Given the description of an element on the screen output the (x, y) to click on. 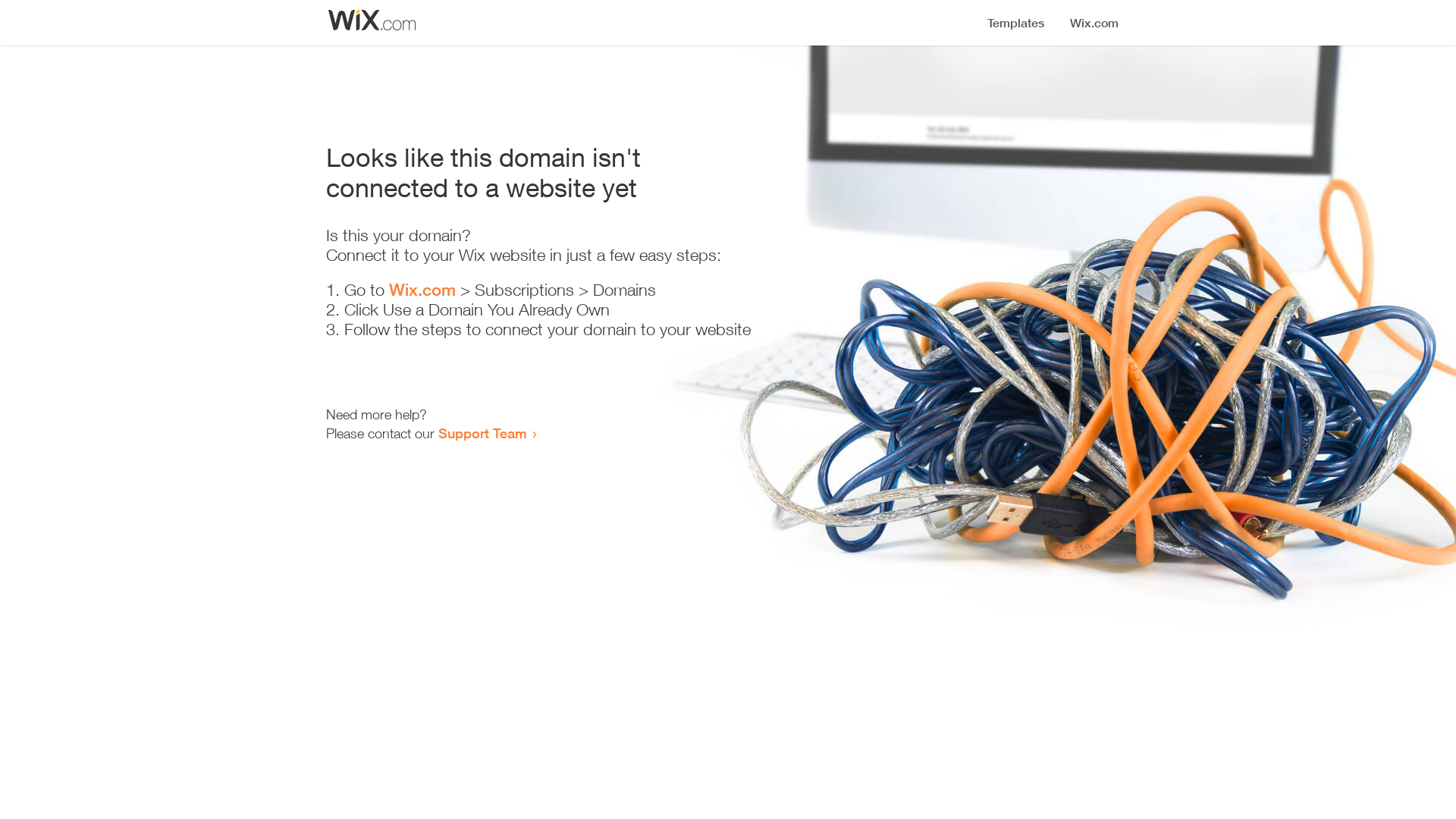
Support Team Element type: text (482, 432)
Wix.com Element type: text (422, 289)
